Given the description of an element on the screen output the (x, y) to click on. 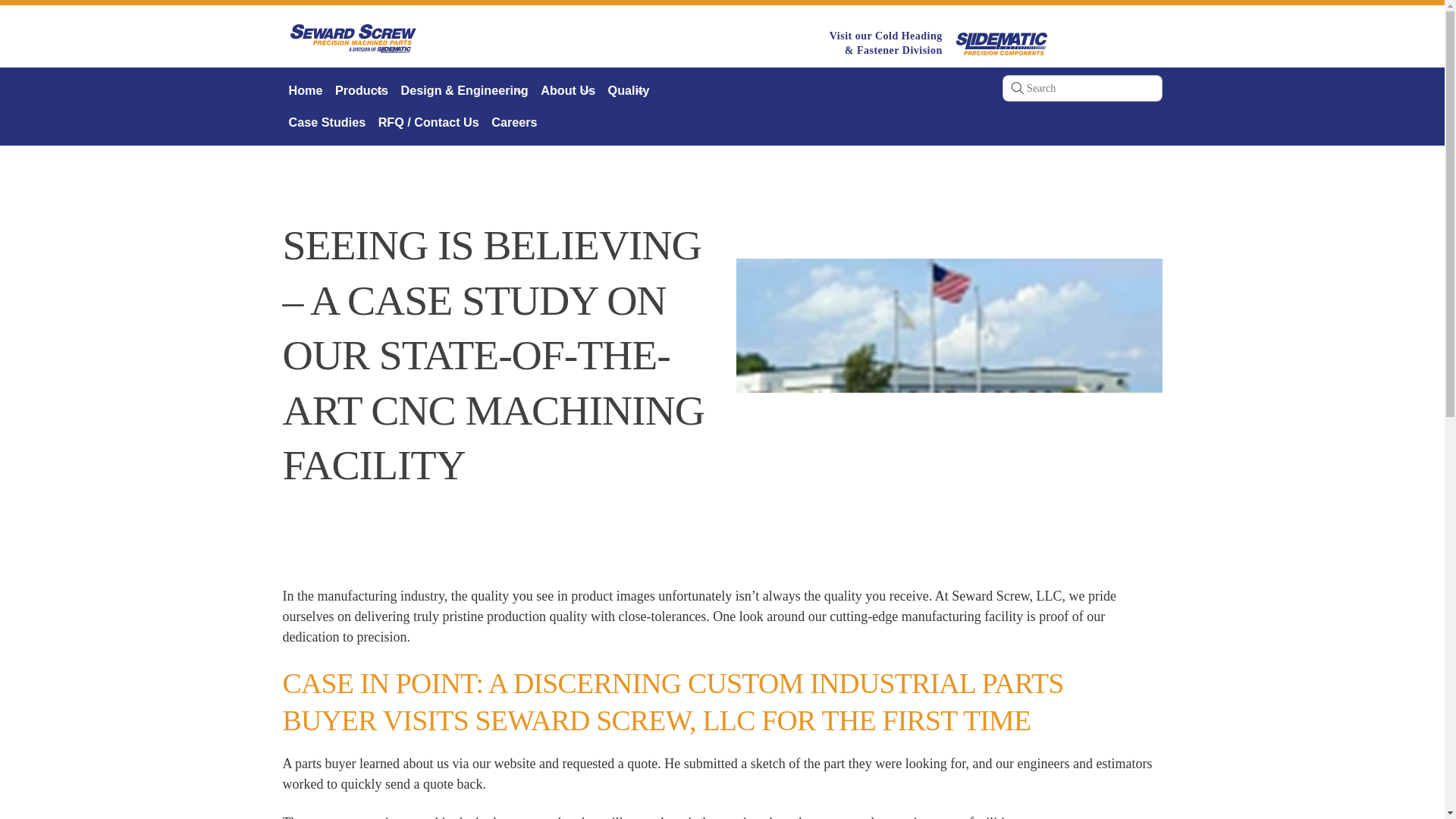
facilities-image34-s (948, 365)
Home (305, 90)
Products (361, 90)
Search (1082, 88)
Quality (629, 90)
Case Studies (326, 121)
About Us (567, 90)
Careers (513, 121)
